Given the description of an element on the screen output the (x, y) to click on. 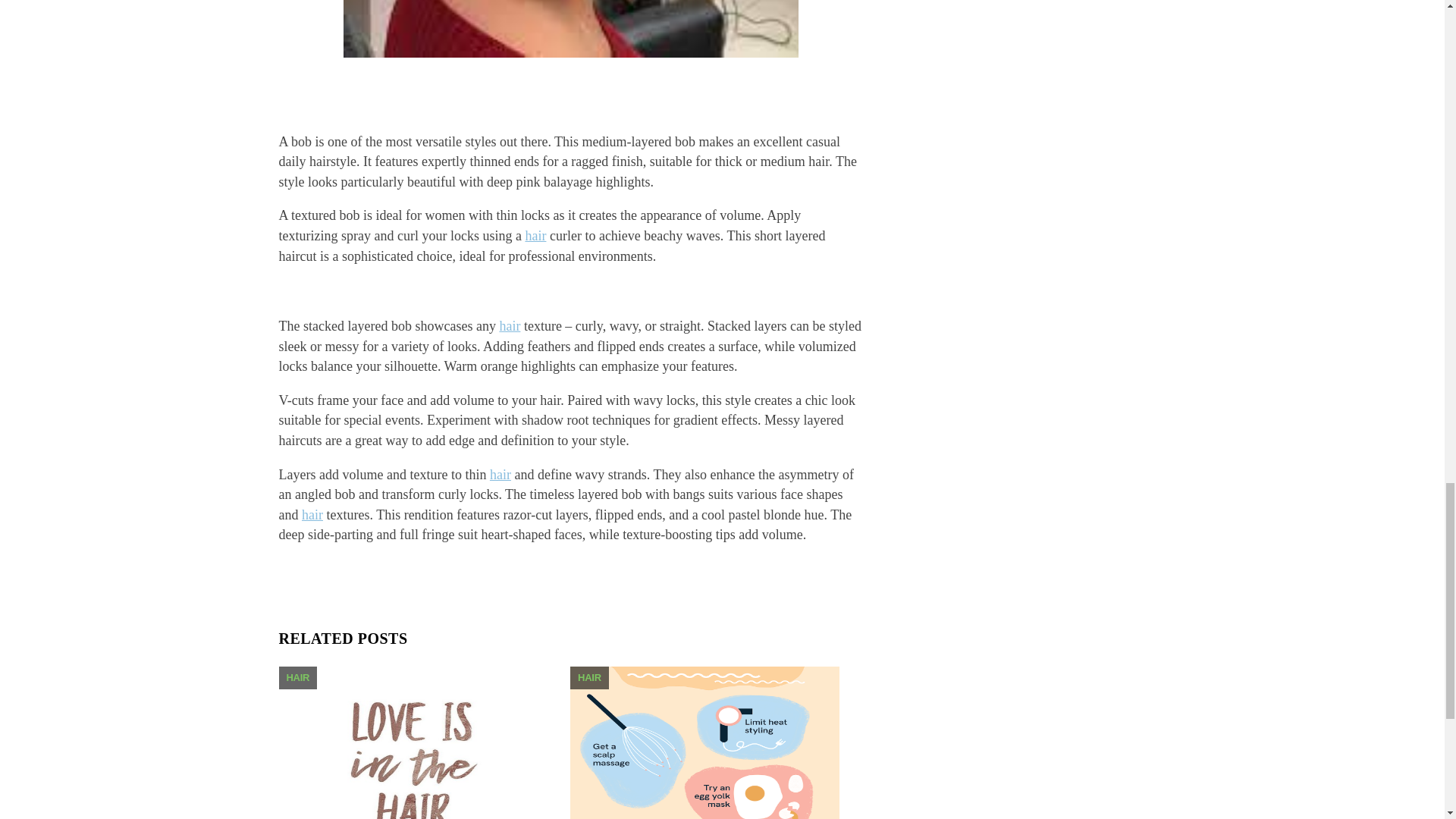
HAIR (589, 677)
hair (509, 325)
HAIR (298, 677)
hair (312, 514)
hair (535, 235)
hair (500, 474)
